Given the description of an element on the screen output the (x, y) to click on. 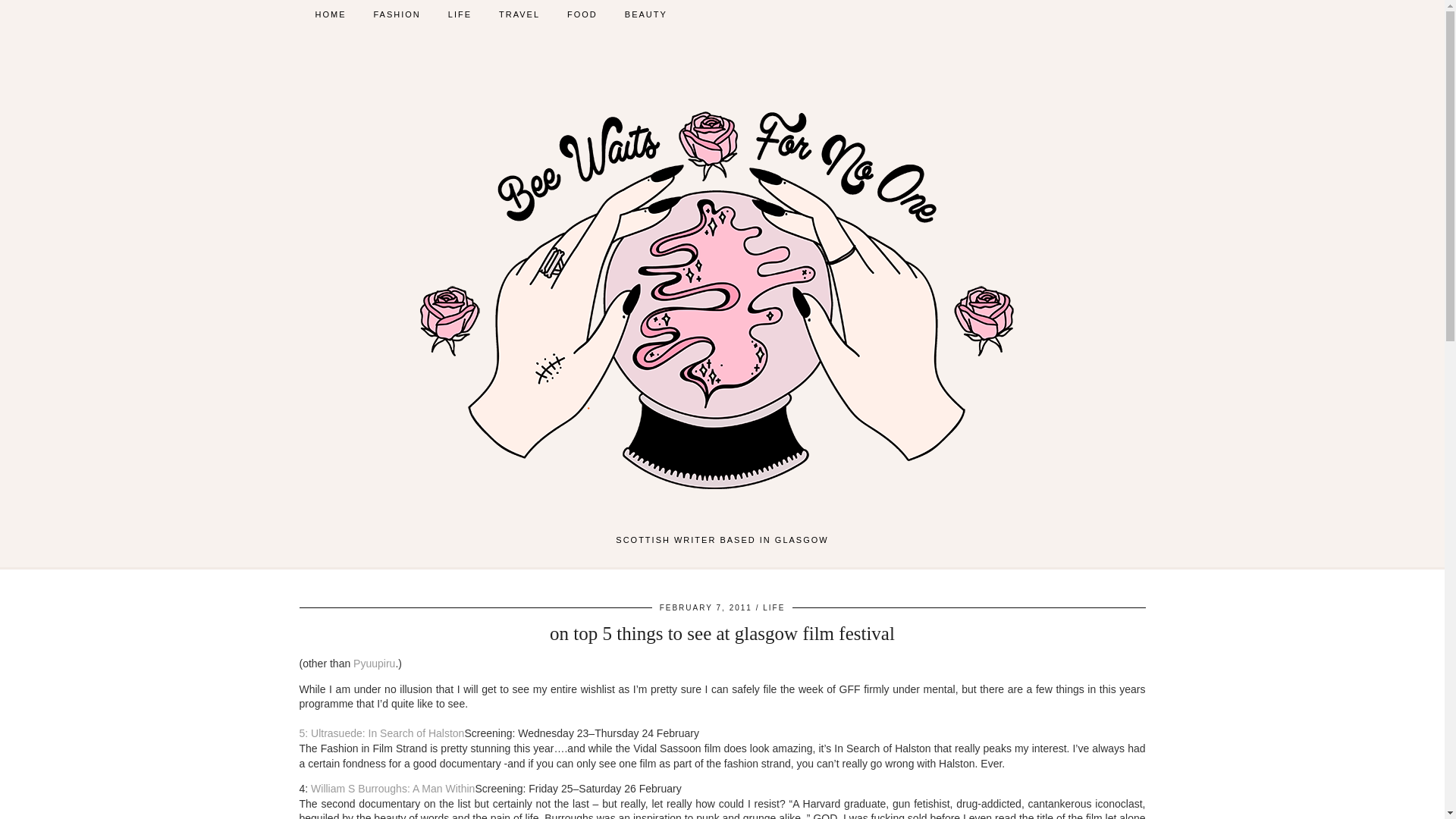
FASHION (396, 14)
LIFE (773, 607)
Pyuupiru (373, 663)
FOOD (582, 14)
BEAUTY (646, 14)
LIFE (458, 14)
5: Ultrasuede: In Search of Halston (381, 740)
TRAVEL (518, 14)
HOME (330, 14)
William S Burroughs: A Man Within (392, 788)
